Given the description of an element on the screen output the (x, y) to click on. 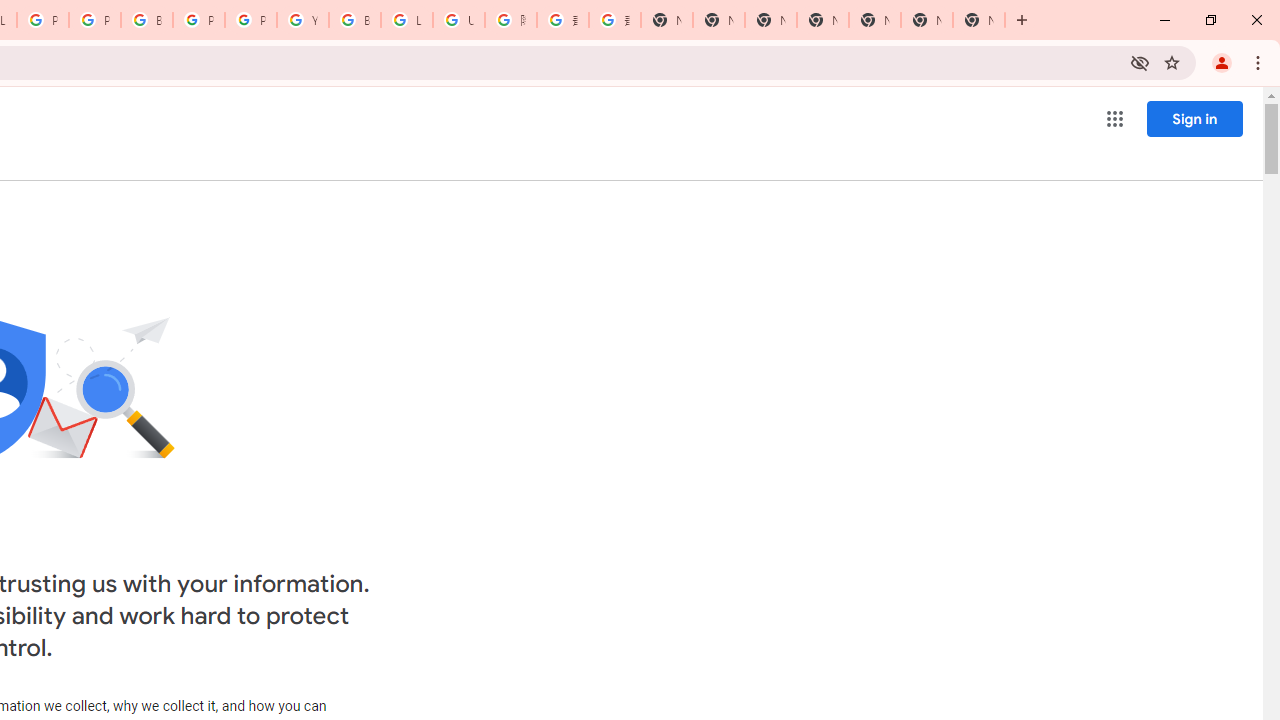
Privacy Help Center - Policies Help (42, 20)
New Tab (978, 20)
Privacy Help Center - Policies Help (95, 20)
